Given the description of an element on the screen output the (x, y) to click on. 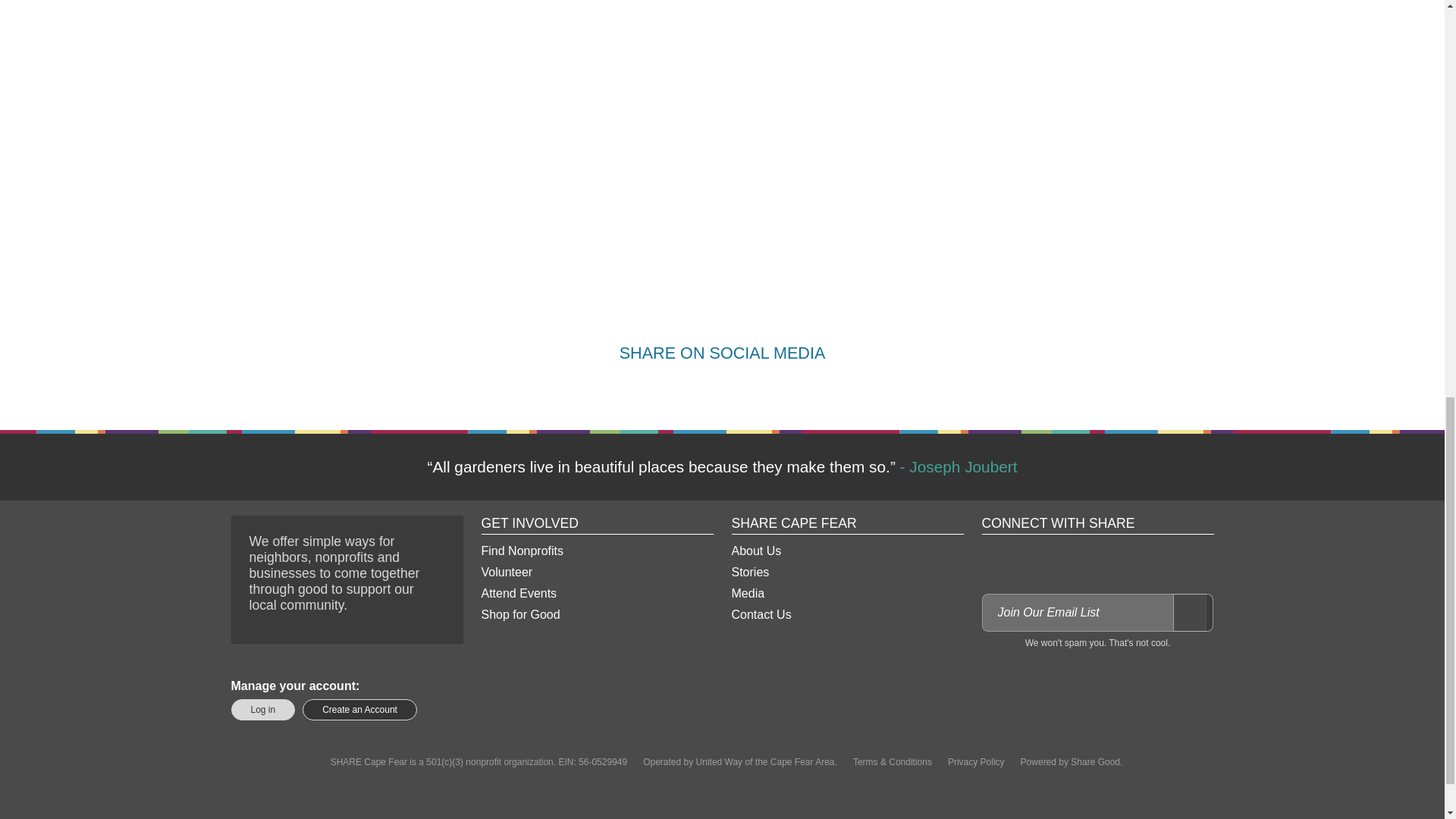
Log in (262, 709)
Volunteer (596, 572)
Shop for Good (596, 614)
Join Our Email List (1192, 612)
Media (846, 593)
About Us (846, 550)
Share to Email (776, 390)
Share to Facebook (667, 390)
Contact Us (846, 614)
Find Nonprofits (596, 550)
